Given the description of an element on the screen output the (x, y) to click on. 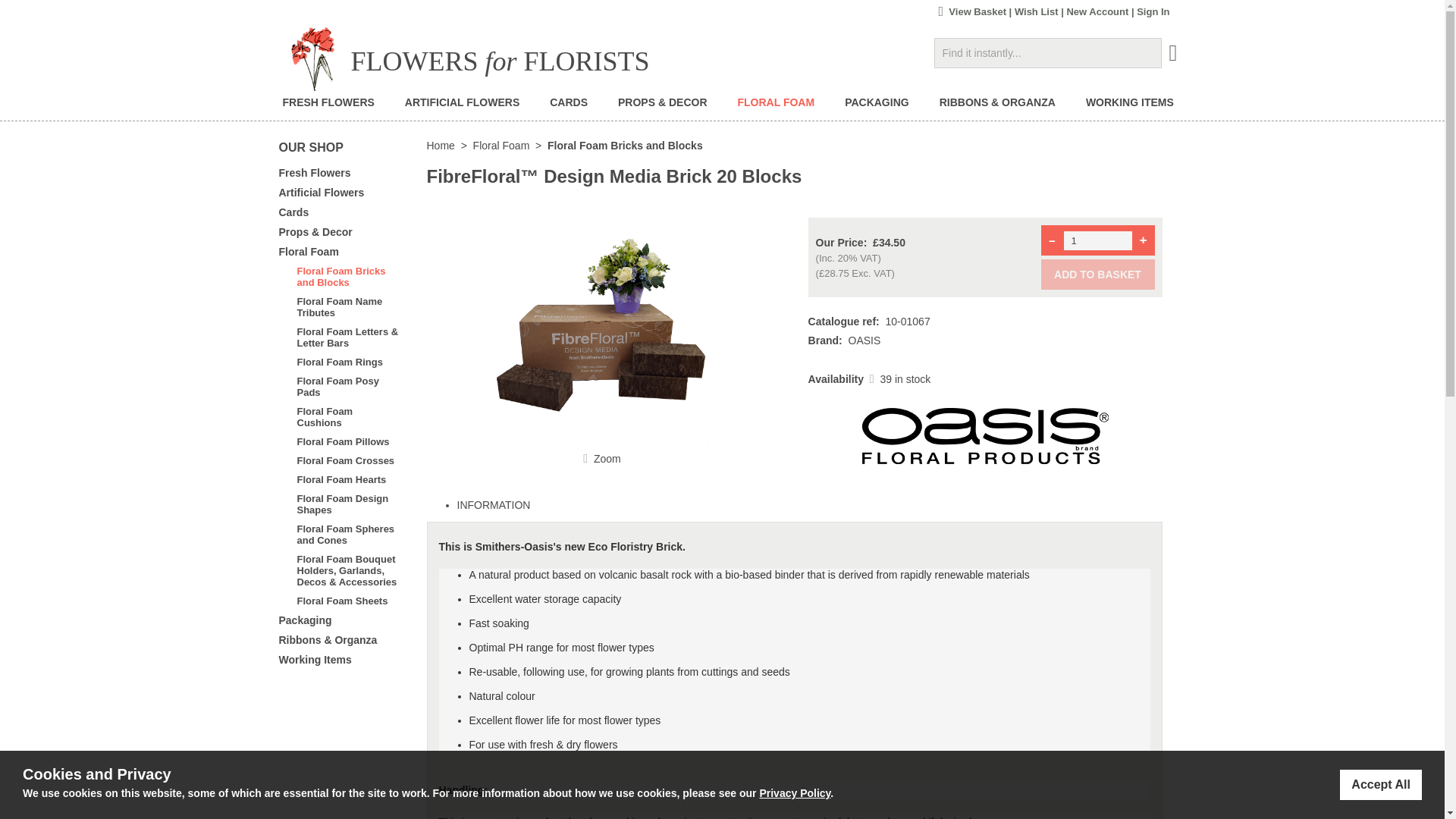
Floral Foam (501, 145)
Floral Foam Spheres and Cones (339, 534)
Floral Foam Design Shapes (339, 504)
Fresh Flowers (314, 173)
Zoom (601, 331)
1 (1096, 240)
INFORMATION (493, 504)
Floral Foam Posy Pads (339, 386)
Floral Foam Cushions (339, 416)
Working Items (315, 659)
